Given the description of an element on the screen output the (x, y) to click on. 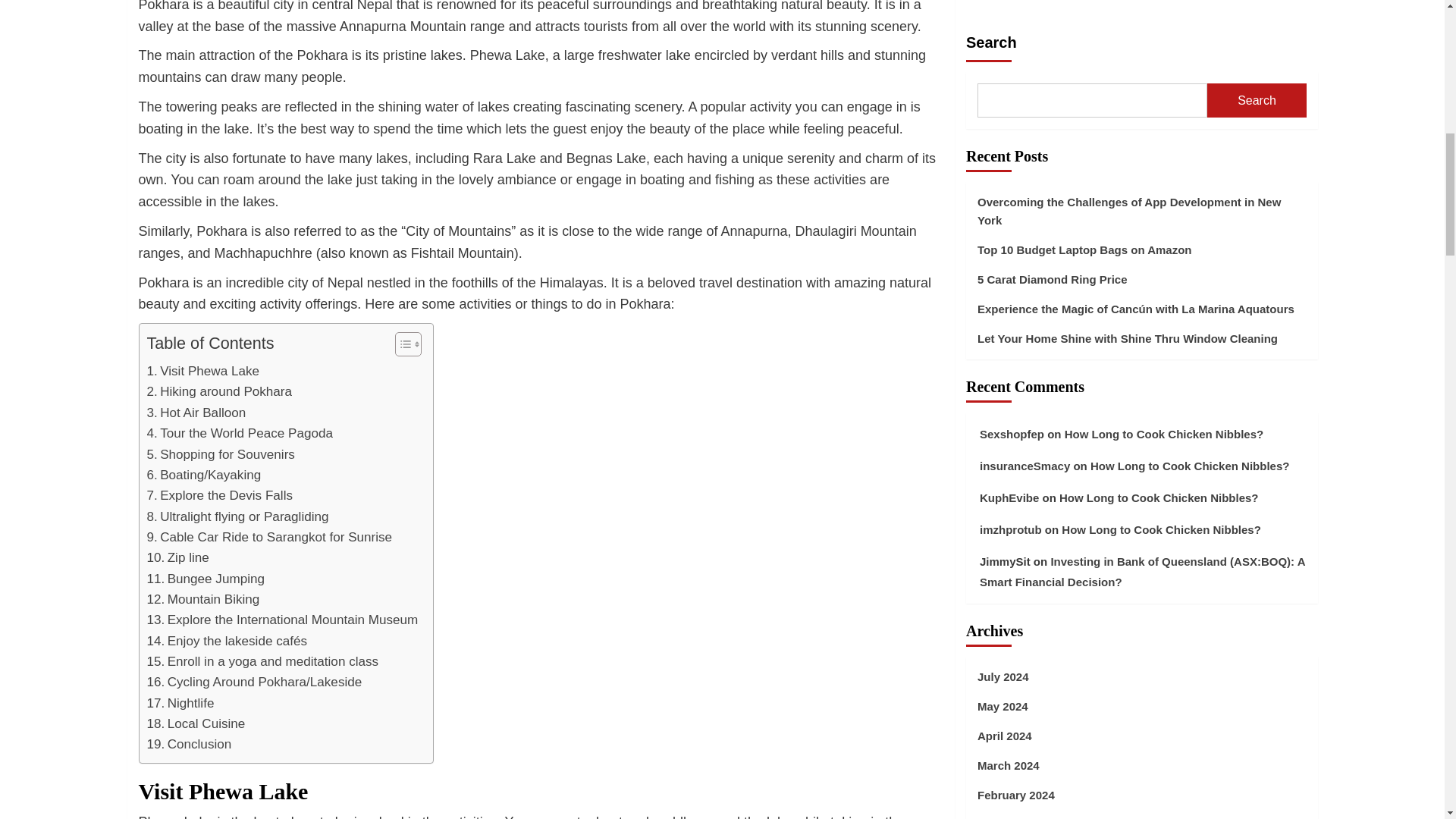
Bungee Jumping (205, 578)
Cable Car Ride to Sarangkot for Sunrise (270, 537)
Bungee Jumping (205, 578)
Conclusion (189, 743)
Shopping for Souvenirs (221, 454)
Nightlife (180, 702)
Mountain Biking (203, 598)
Enroll in a yoga and meditation class (262, 661)
Explore the International Mountain Museum (283, 619)
Ultralight flying or Paragliding (238, 516)
